Given the description of an element on the screen output the (x, y) to click on. 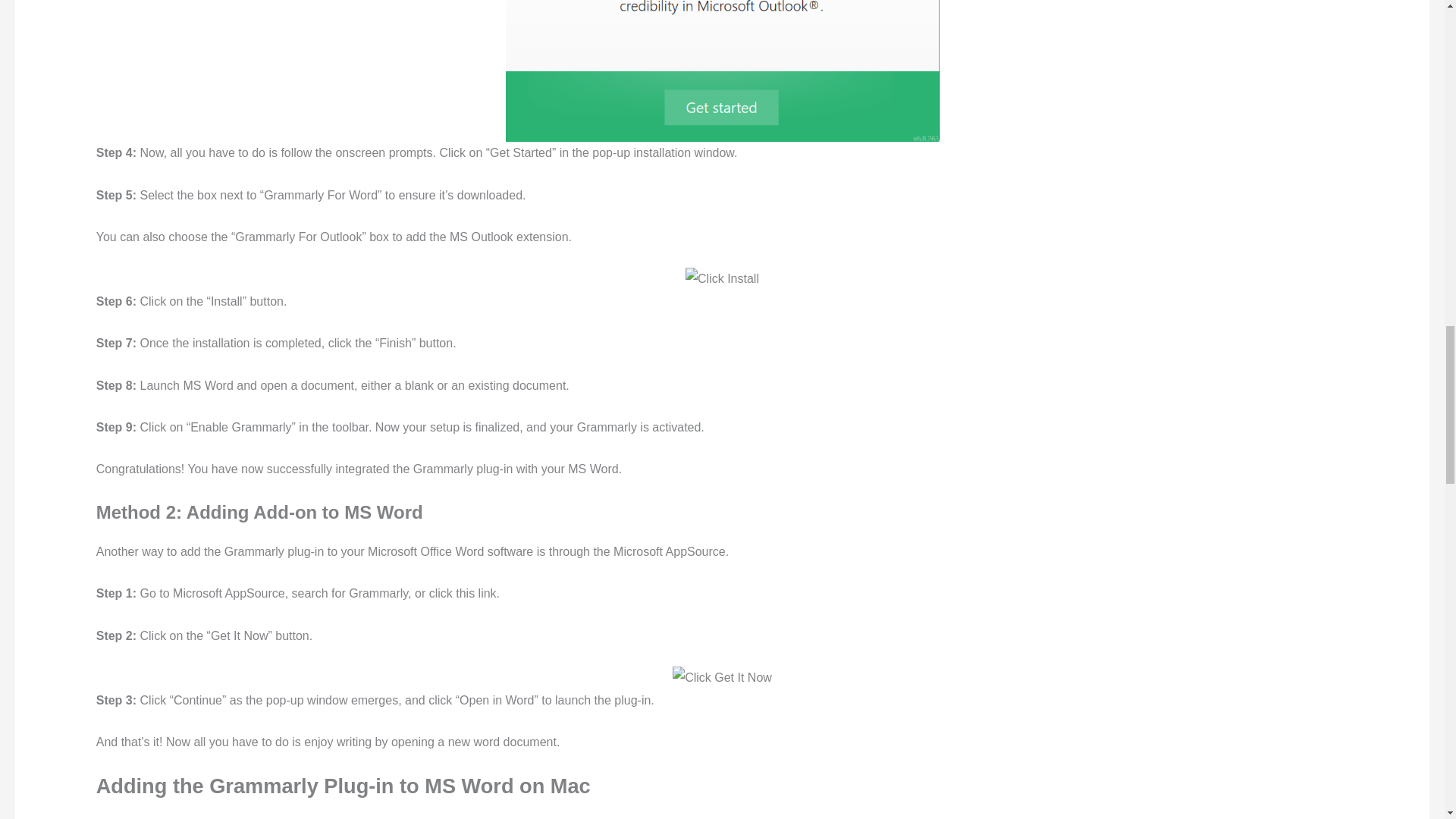
Click Get It Now (721, 677)
Click Get Started (722, 70)
Click Install (721, 278)
